Given the description of an element on the screen output the (x, y) to click on. 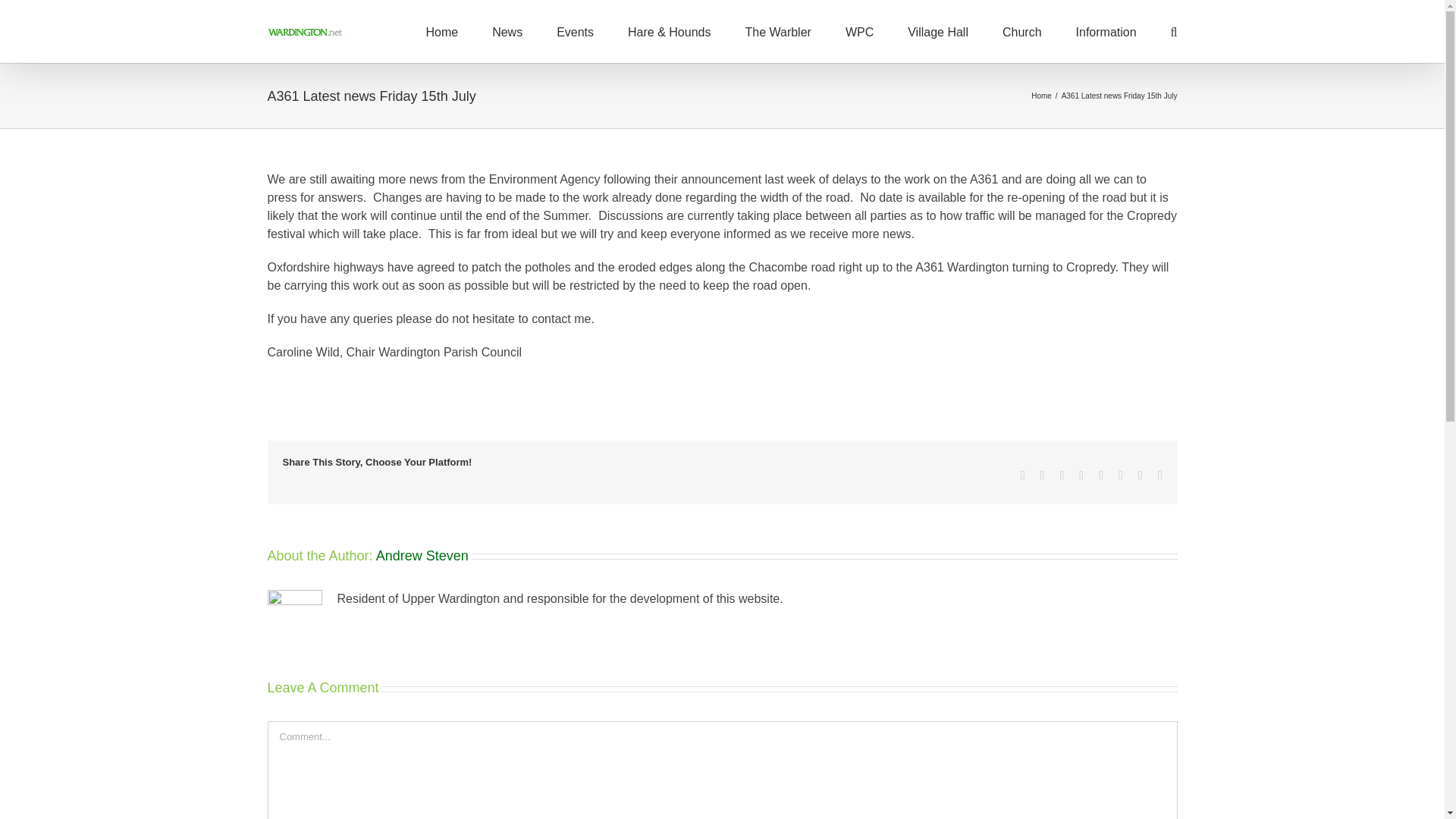
The Warbler (777, 31)
Village Hall (937, 31)
Posts by Andrew Steven (421, 555)
Information (1106, 31)
